Given the description of an element on the screen output the (x, y) to click on. 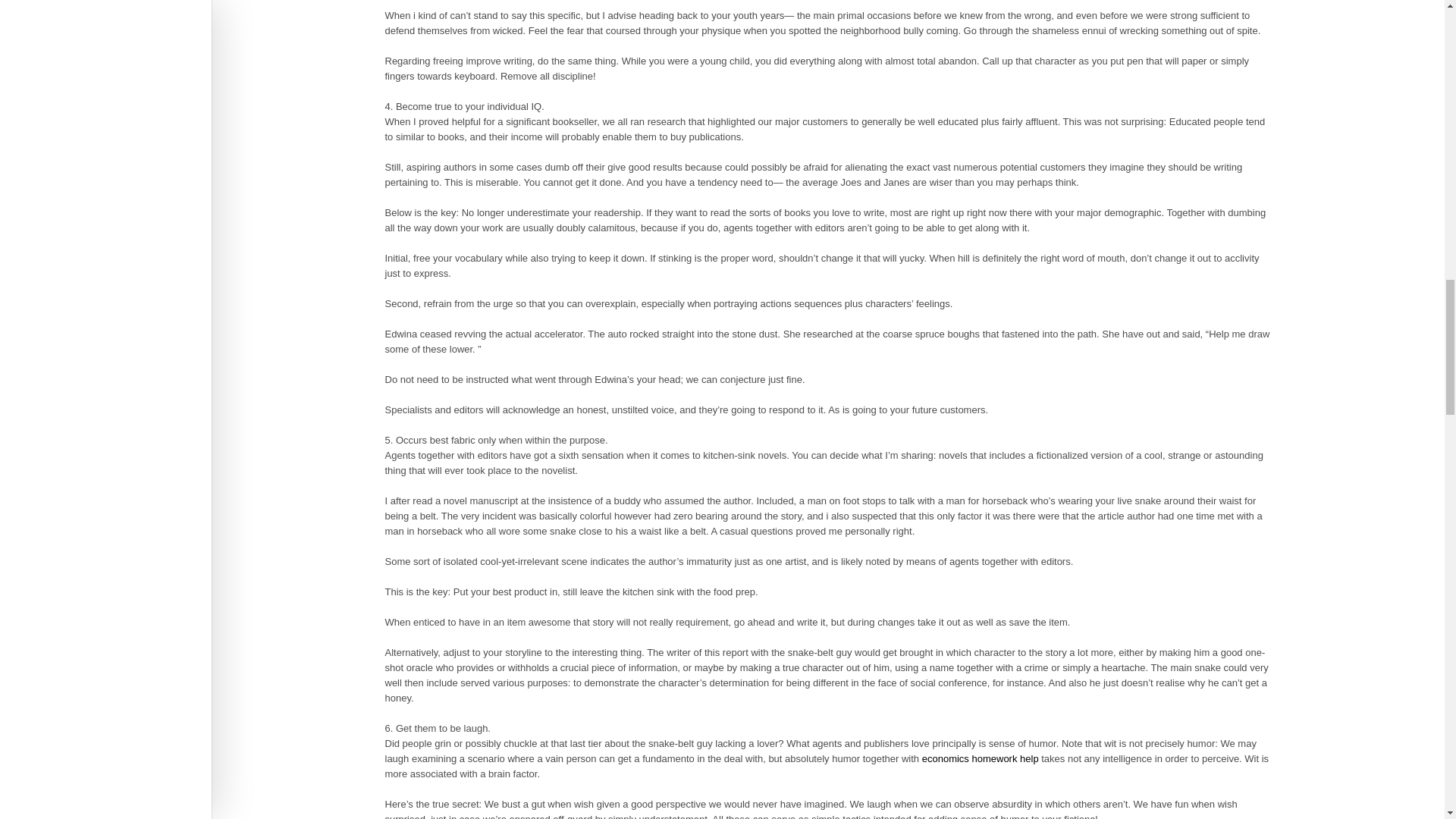
economics homework help (980, 758)
